Given the description of an element on the screen output the (x, y) to click on. 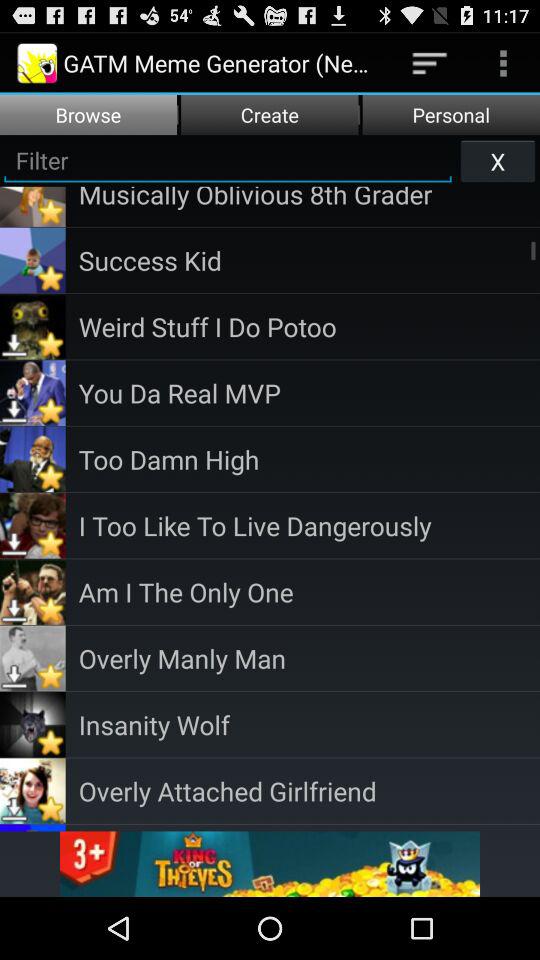
see advert (270, 864)
